Given the description of an element on the screen output the (x, y) to click on. 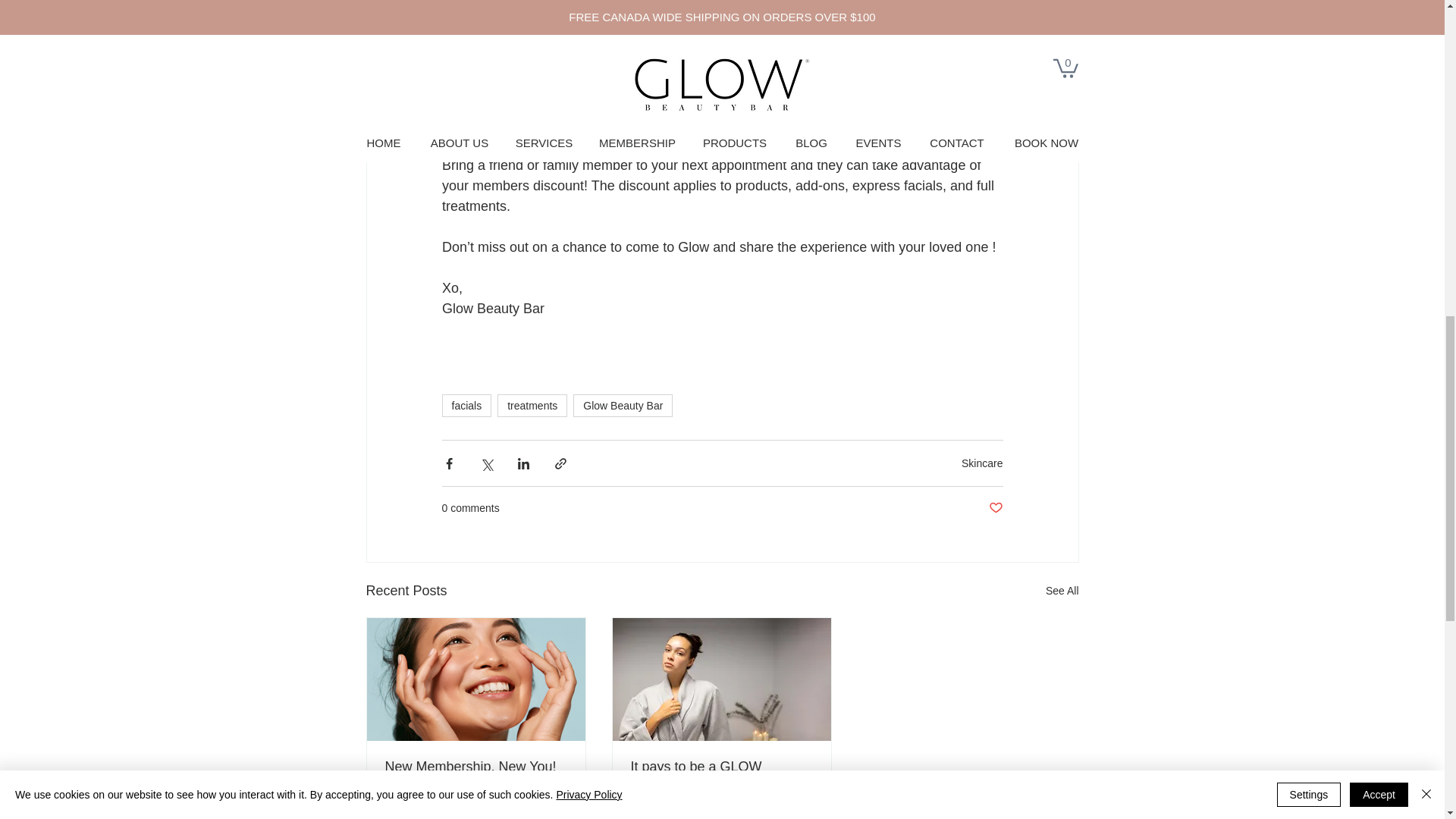
It pays to be a GLOW Member! (721, 775)
New Membership, New You! (476, 766)
See All (1061, 590)
facials (466, 404)
Post not marked as liked (995, 508)
Glow Beauty Bar (622, 404)
treatments (532, 404)
Skincare (981, 463)
